Given the description of an element on the screen output the (x, y) to click on. 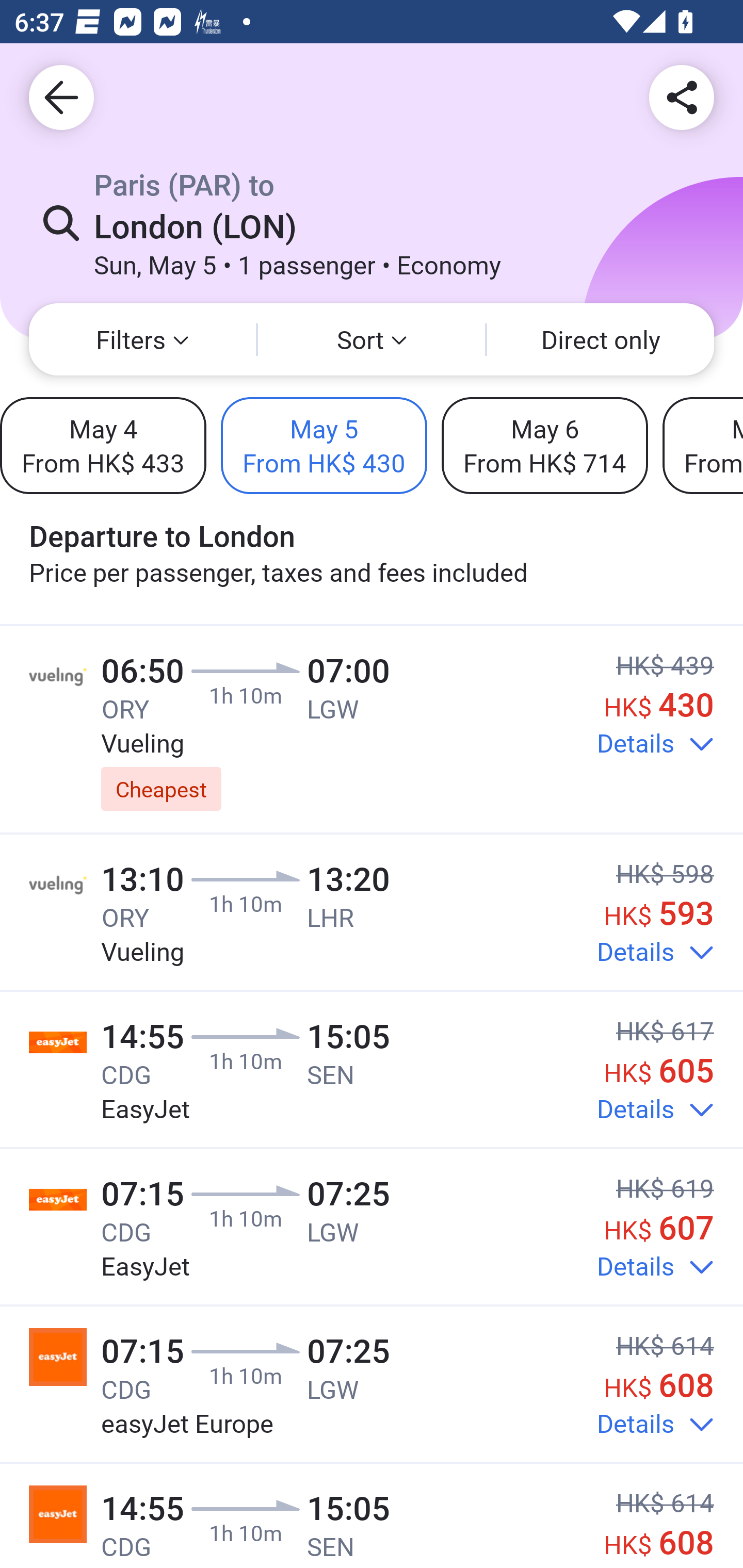
Filters (141, 339)
Sort (371, 339)
Direct only (600, 339)
May 4 From HK$ 433 (103, 444)
May 5 From HK$ 430 (323, 444)
May 6 From HK$ 714 (544, 444)
